Given the description of an element on the screen output the (x, y) to click on. 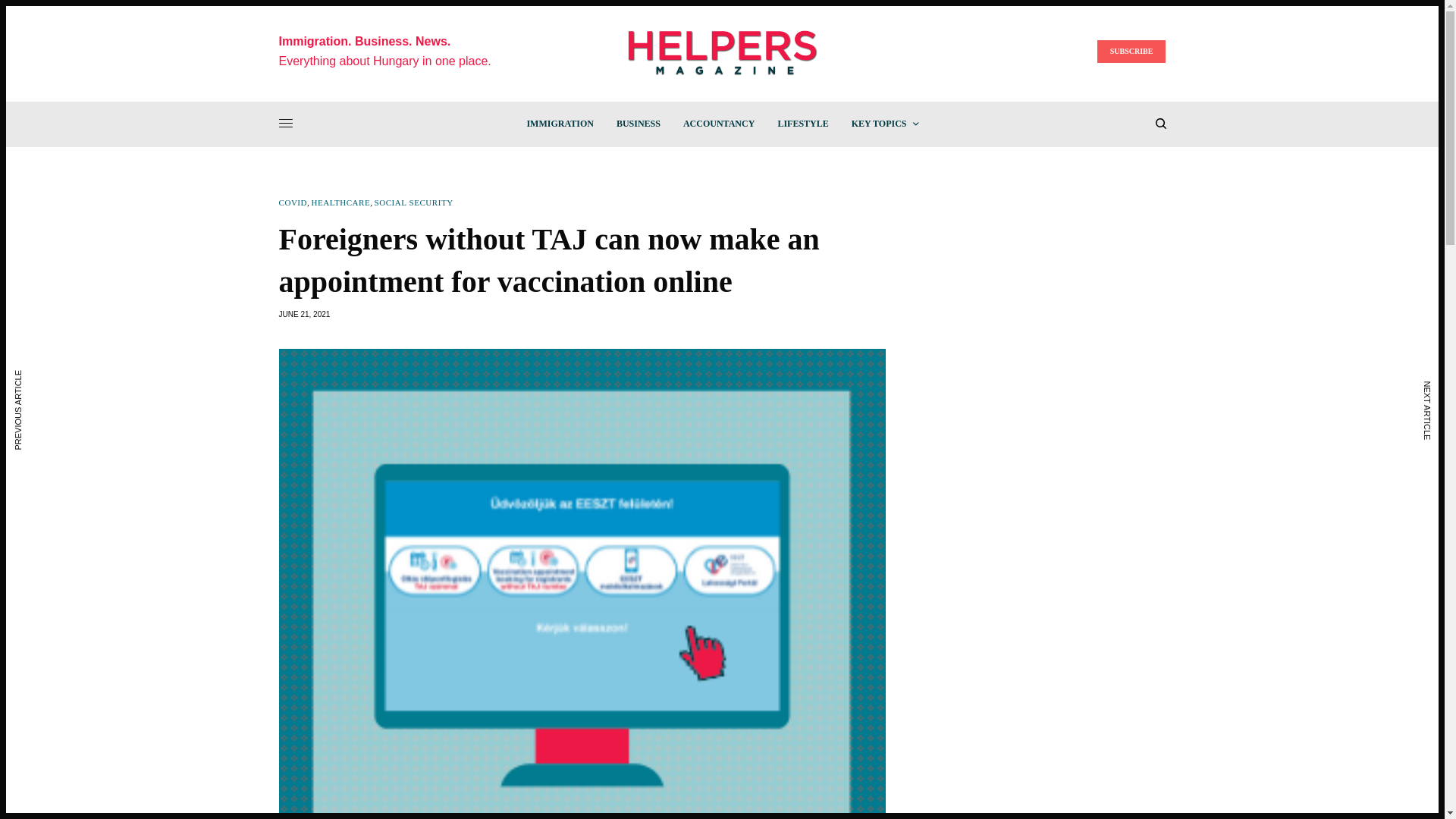
IMMIGRATION (558, 123)
LIFESTYLE (802, 123)
ACCOUNTANCY (718, 123)
Helpers Magazine (722, 51)
SOCIAL SECURITY (413, 203)
COVID (293, 203)
SUBSCRIBE (1131, 51)
KEY TOPICS (884, 123)
HEALTHCARE (340, 203)
BUSINESS (638, 123)
